Given the description of an element on the screen output the (x, y) to click on. 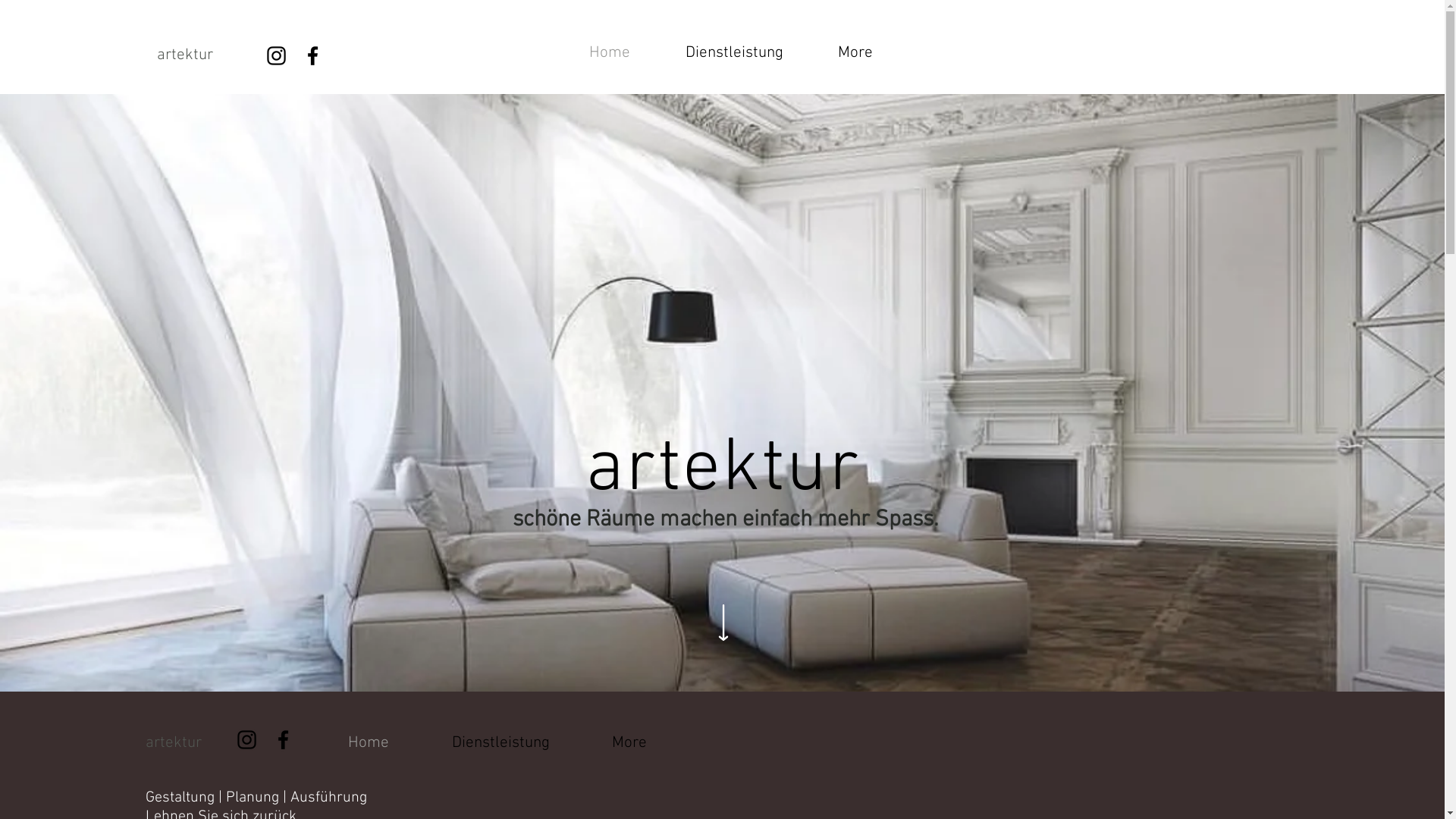
artektur Element type: text (194, 55)
Home Element type: text (609, 53)
artektur Element type: text (180, 743)
Home Element type: text (368, 743)
Dienstleistung Element type: text (733, 53)
Dienstleistung Element type: text (500, 743)
